Given the description of an element on the screen output the (x, y) to click on. 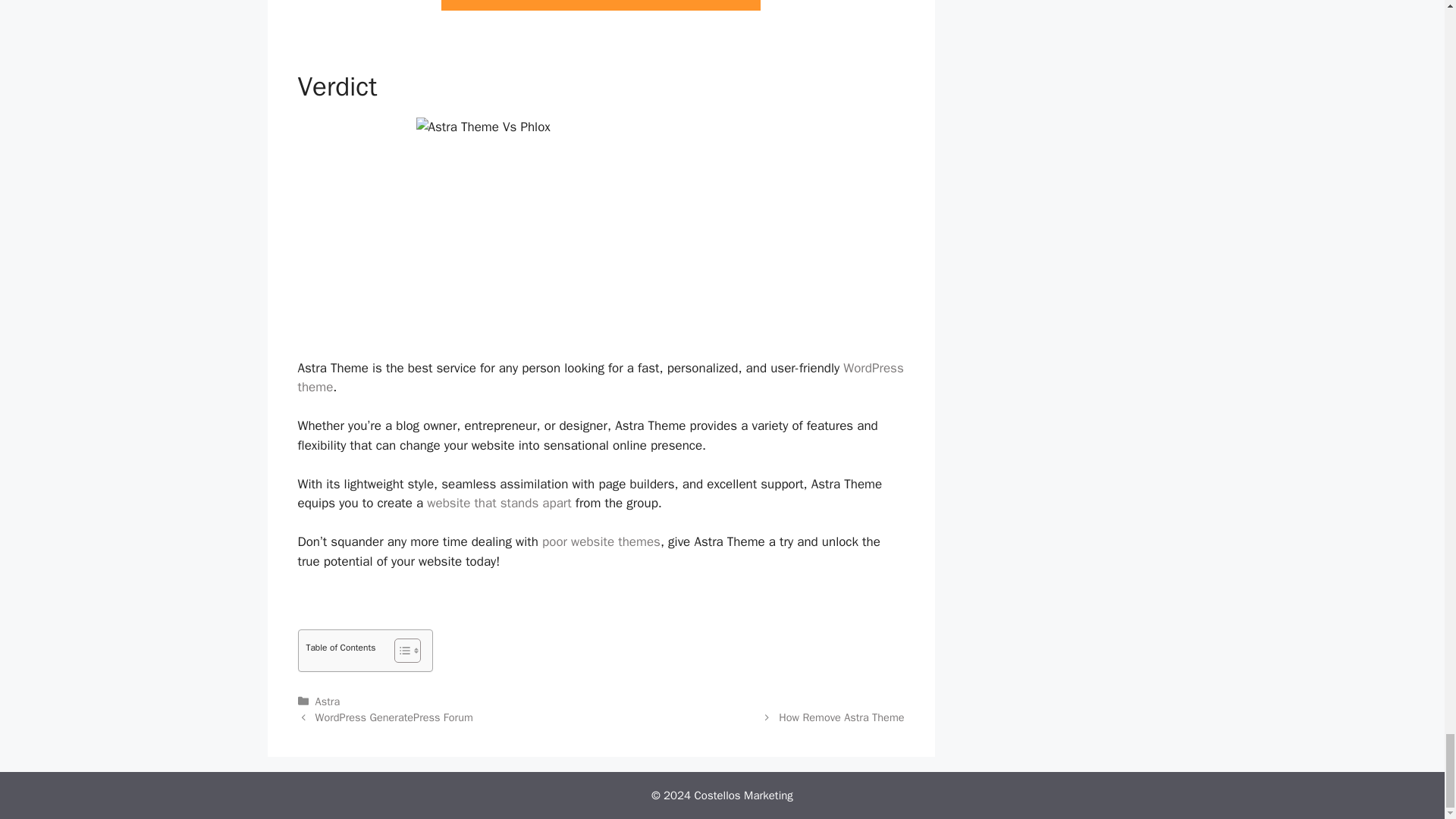
website that stands apart (498, 503)
WordPress theme (599, 377)
poor website themes (601, 541)
Utilize Astra Theme For Free Today (601, 5)
